Given the description of an element on the screen output the (x, y) to click on. 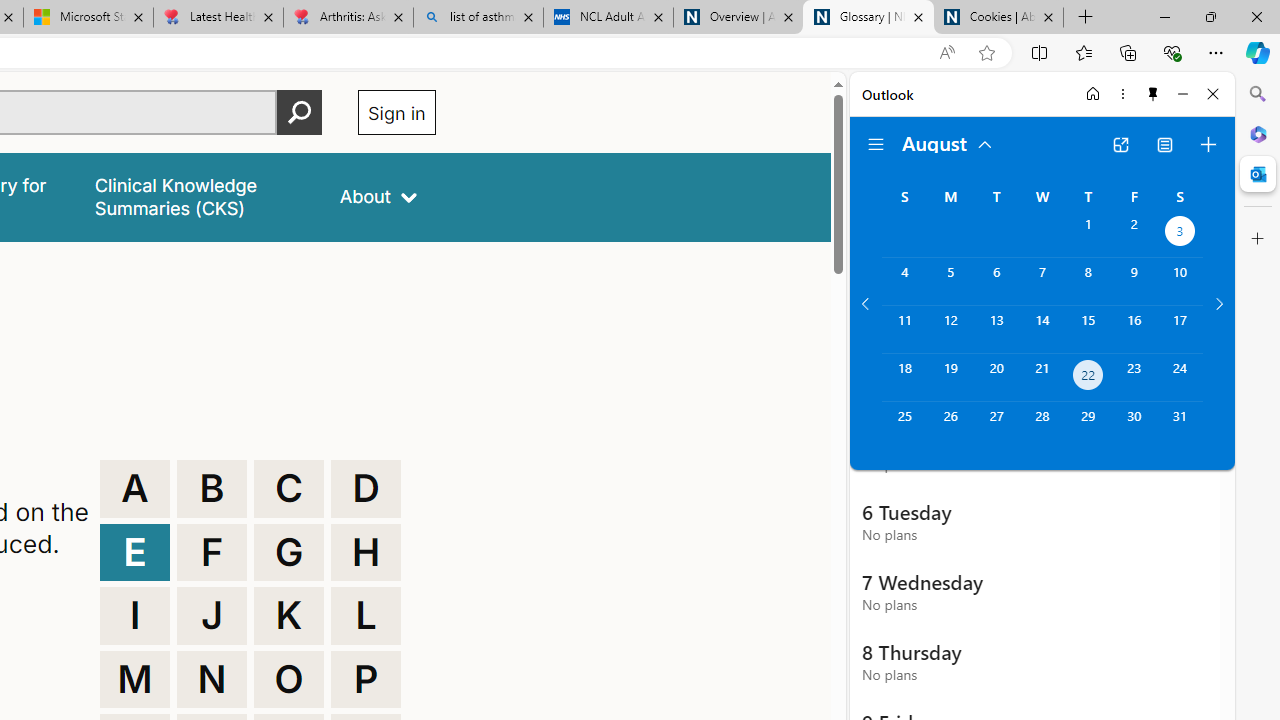
Monday, August 5, 2024.  (950, 281)
L (365, 615)
A (134, 488)
B (212, 488)
Tuesday, August 20, 2024.  (996, 377)
I (134, 615)
NCL Adult Asthma Inhaler Choice Guideline (608, 17)
Friday, August 23, 2024.  (1134, 377)
Tuesday, August 27, 2024.  (996, 425)
C (289, 488)
M (134, 679)
